Given the description of an element on the screen output the (x, y) to click on. 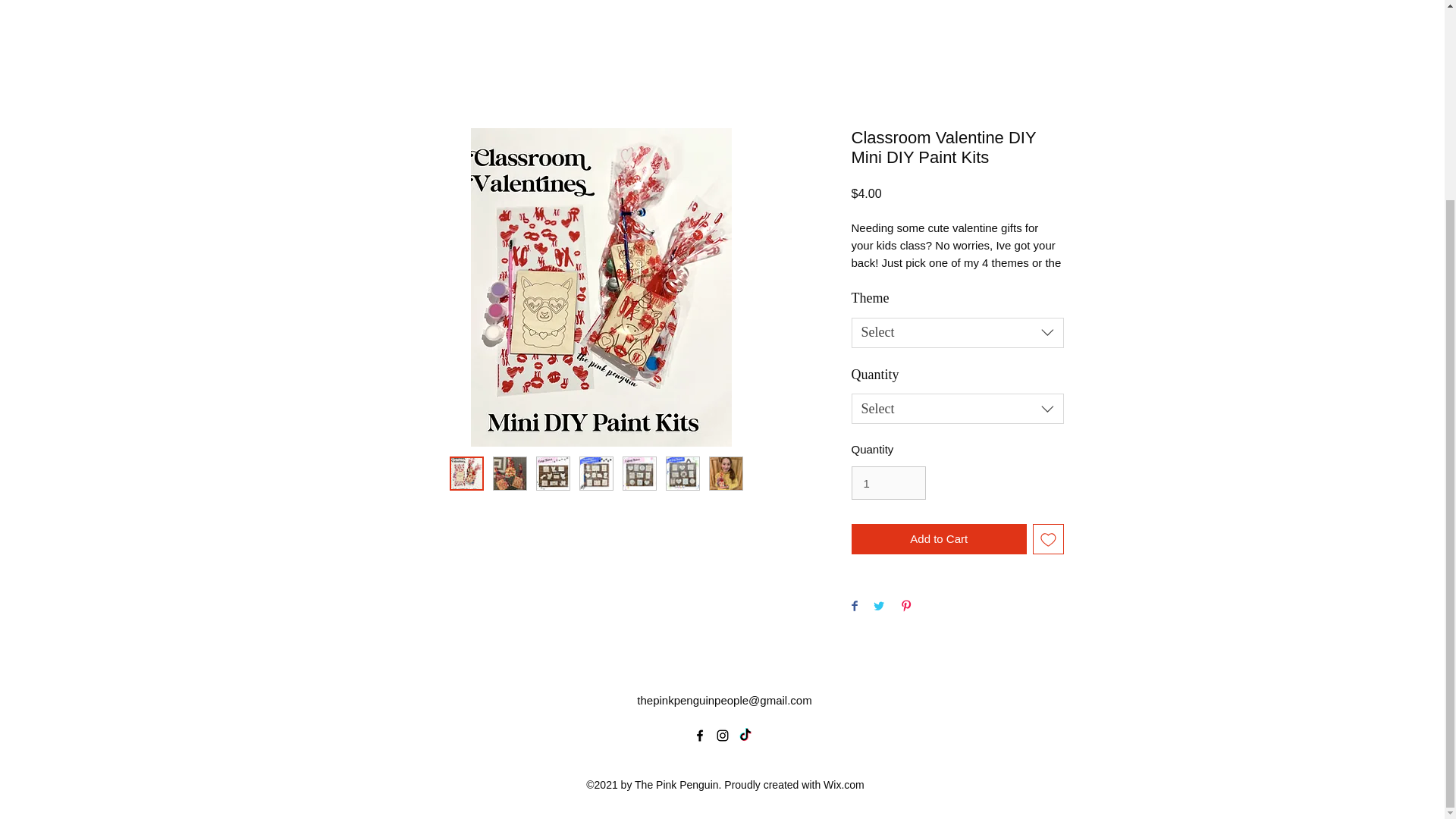
Select (956, 408)
Add to Cart (938, 539)
Select (956, 332)
1 (887, 482)
